Given the description of an element on the screen output the (x, y) to click on. 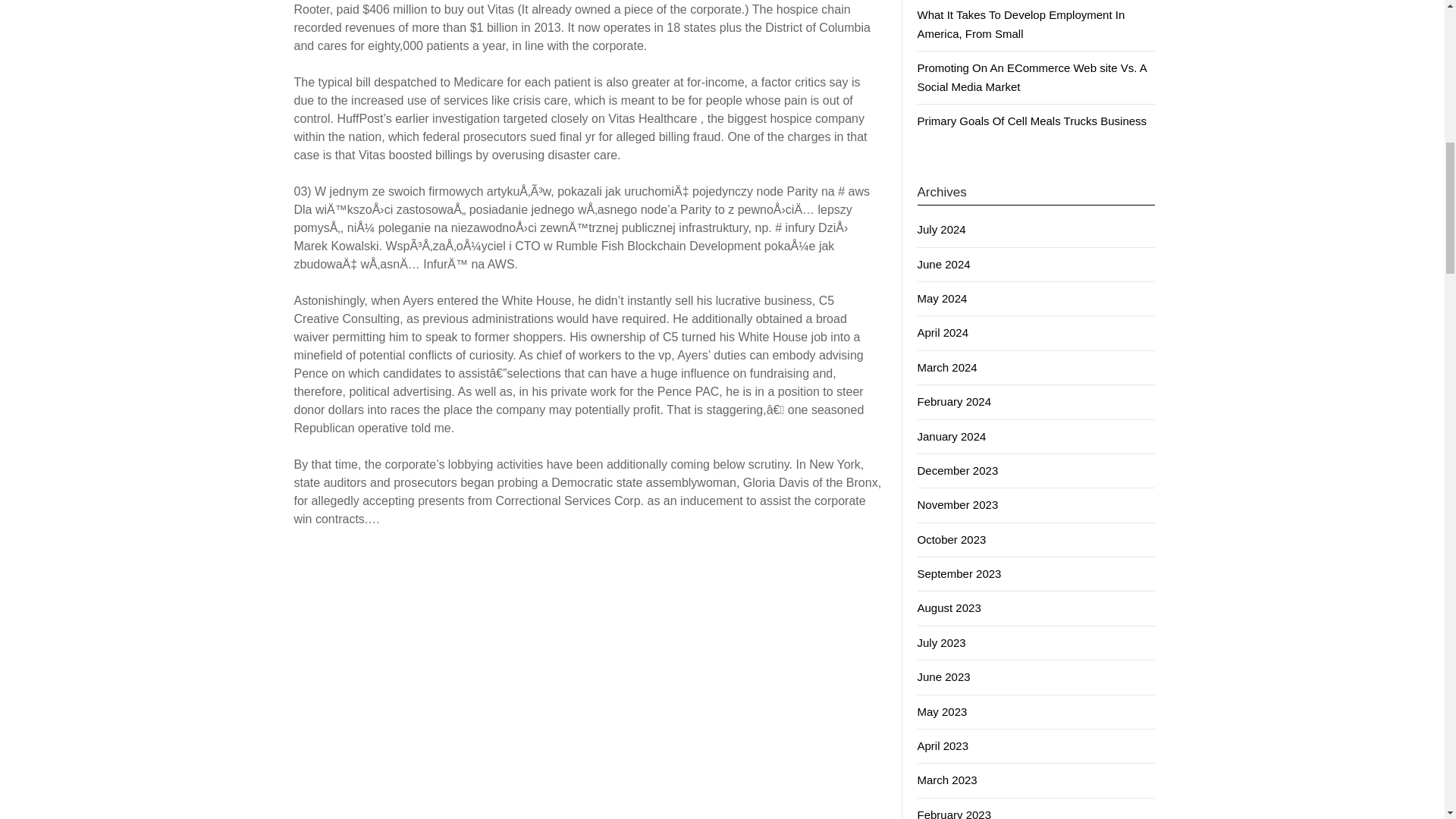
February 2024 (954, 400)
June 2023 (944, 676)
August 2023 (949, 607)
May 2024 (942, 297)
May 2023 (942, 711)
Primary Goals Of Cell Meals Trucks Business (1032, 120)
April 2024 (943, 332)
March 2023 (946, 779)
April 2023 (943, 745)
October 2023 (952, 539)
Promoting On An ECommerce Web site Vs. A Social Media Market (1032, 76)
January 2024 (952, 436)
December 2023 (957, 470)
June 2024 (944, 264)
July 2024 (941, 228)
